Given the description of an element on the screen output the (x, y) to click on. 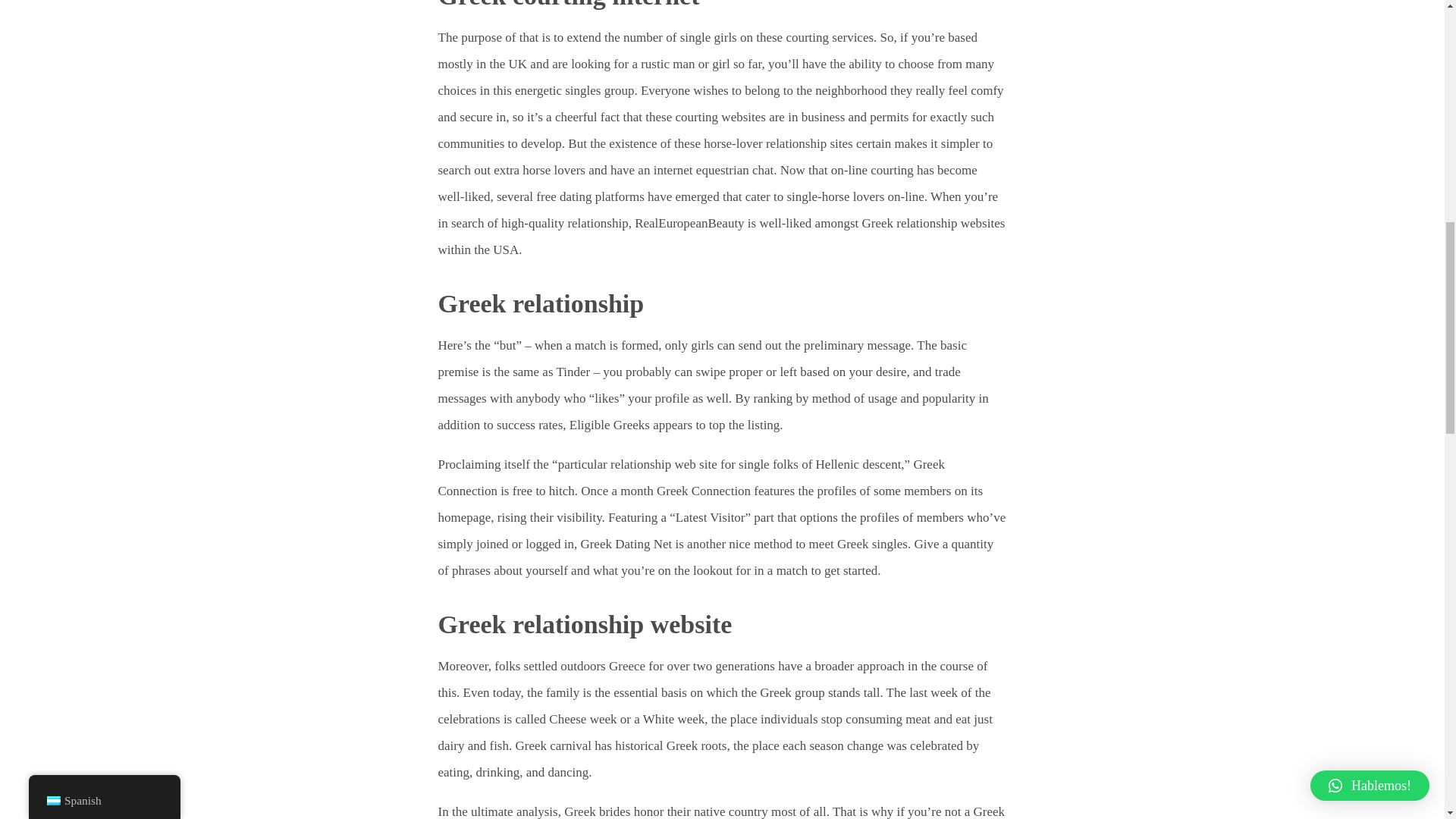
Spanish (104, 1)
